Given the description of an element on the screen output the (x, y) to click on. 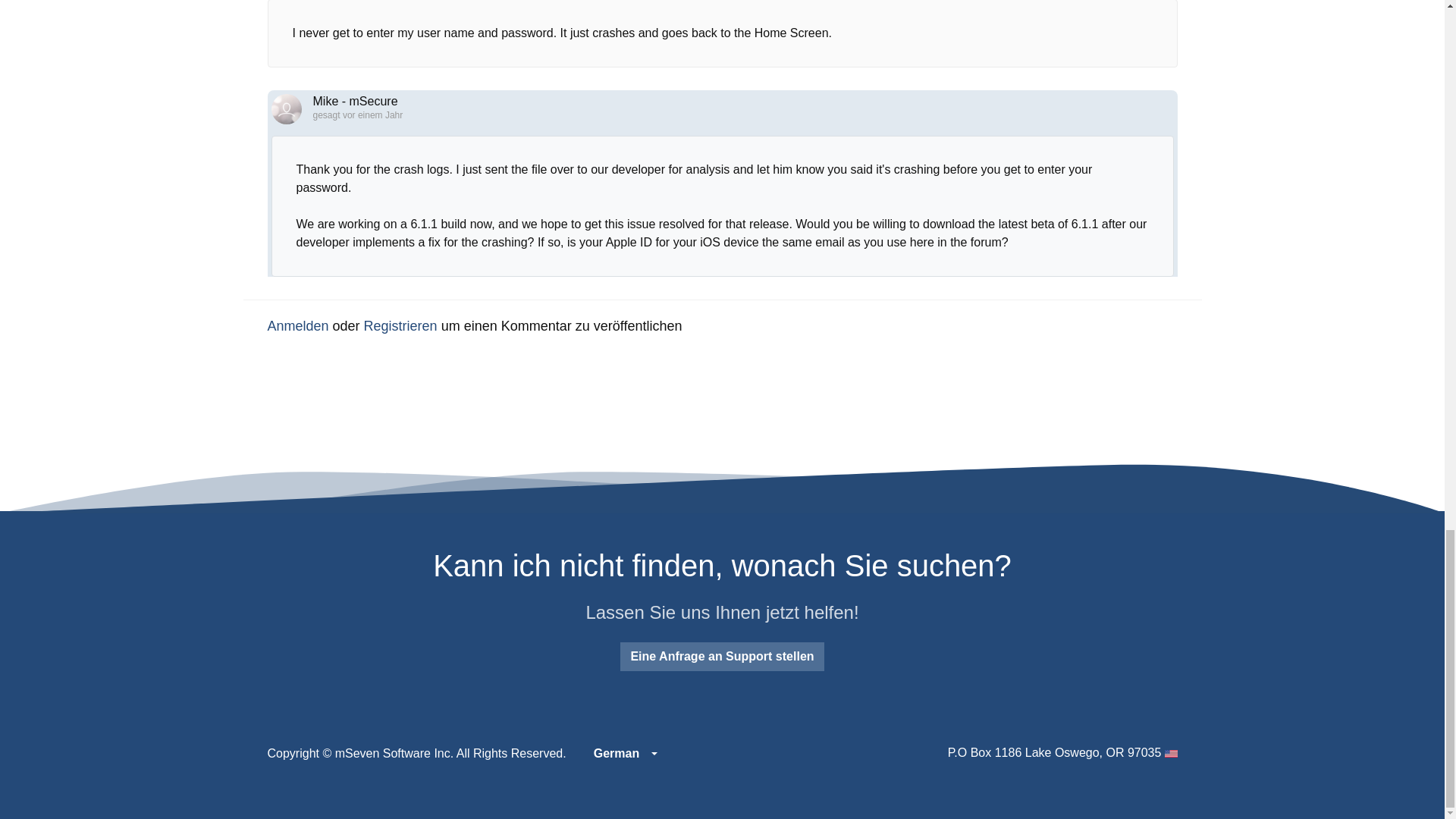
Registrieren (401, 325)
Eine Anfrage an Support stellen (722, 656)
Mo, Apr 10, 2023 um 12:25 NACHMITTAGS (372, 114)
Anmelden (297, 325)
